Given the description of an element on the screen output the (x, y) to click on. 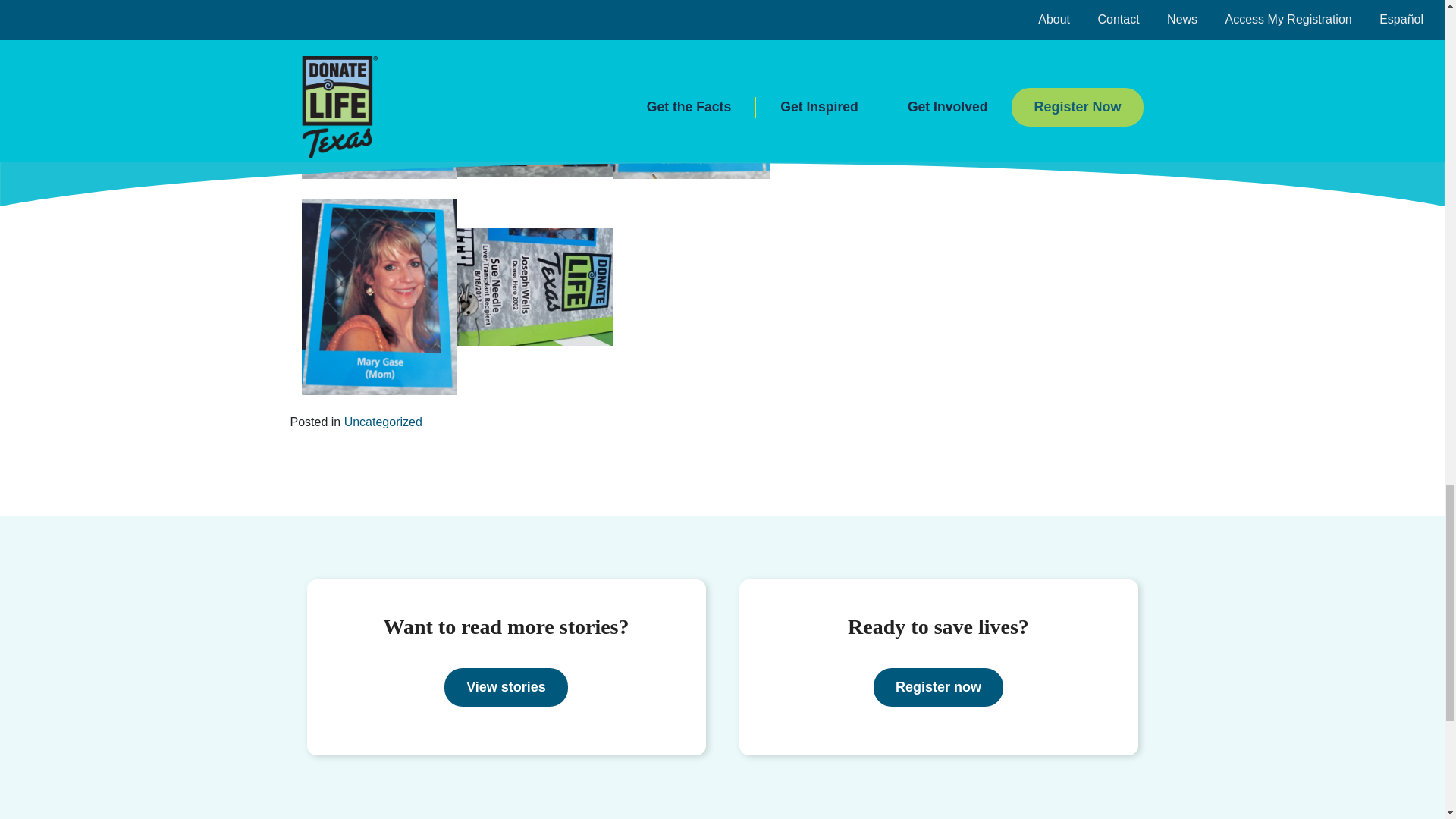
Uncategorized (382, 421)
View stories (505, 687)
Register now (938, 687)
